Given the description of an element on the screen output the (x, y) to click on. 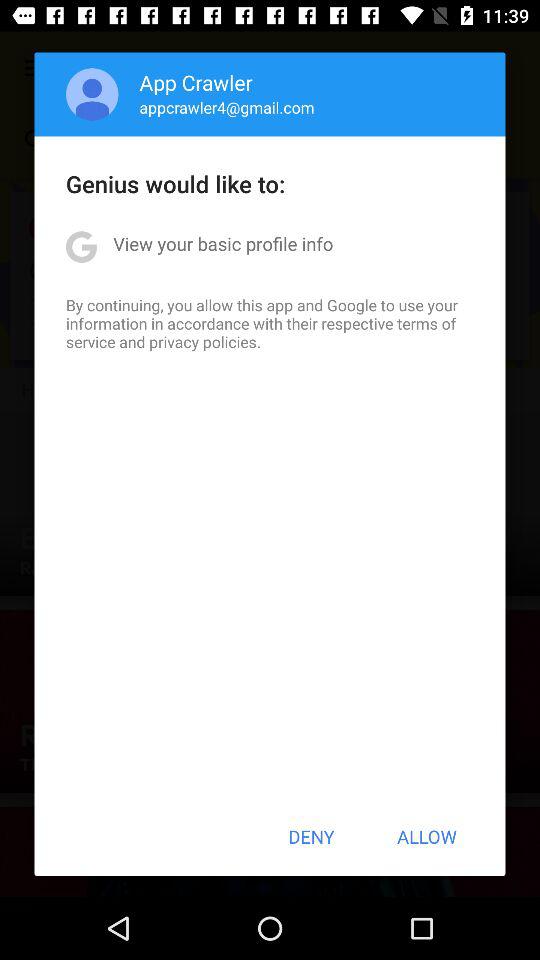
open item below the genius would like app (223, 243)
